Given the description of an element on the screen output the (x, y) to click on. 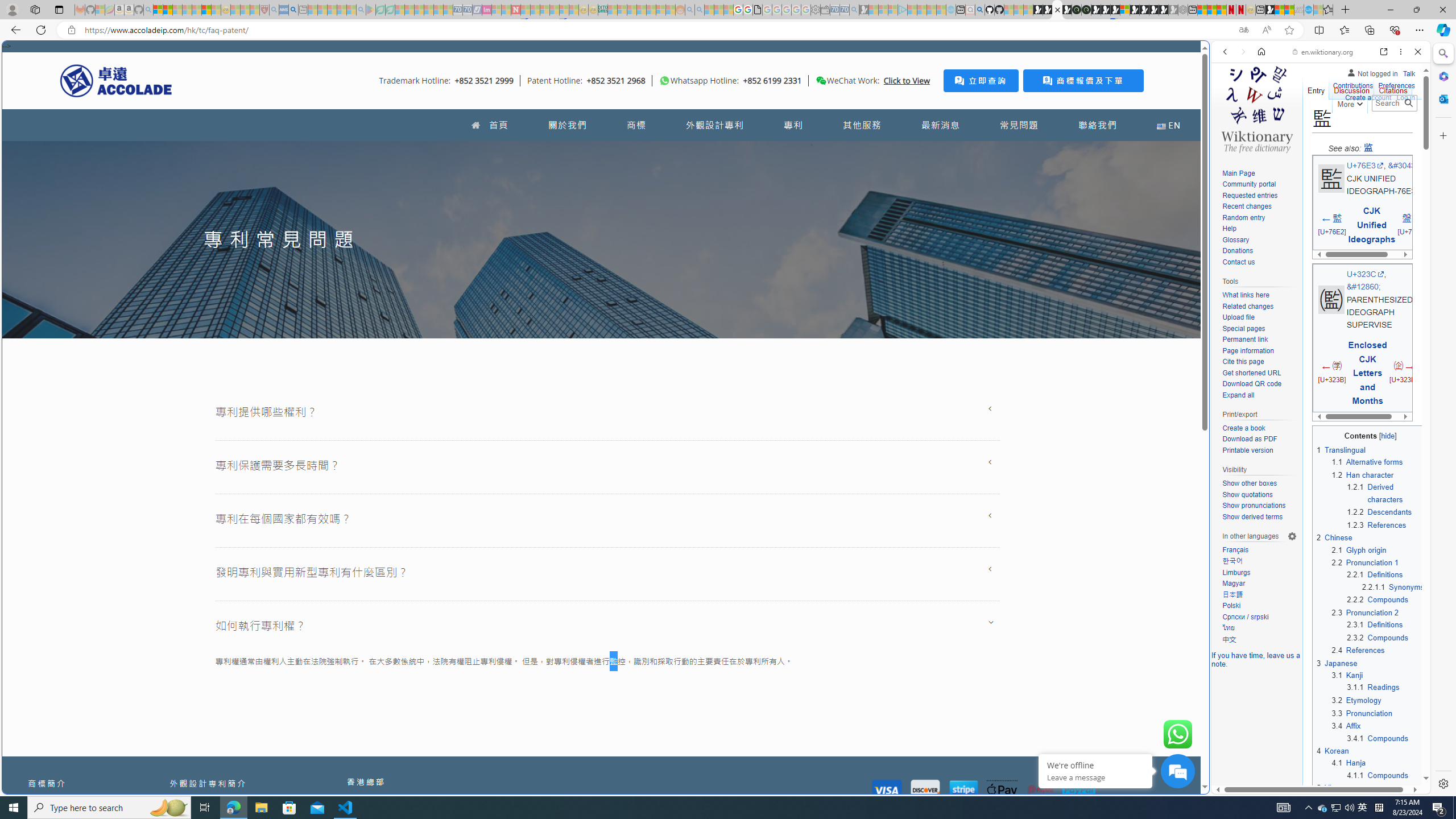
Permanent link (1259, 339)
1.1 Alternative forms (1366, 462)
Glossary (1259, 240)
